Given the description of an element on the screen output the (x, y) to click on. 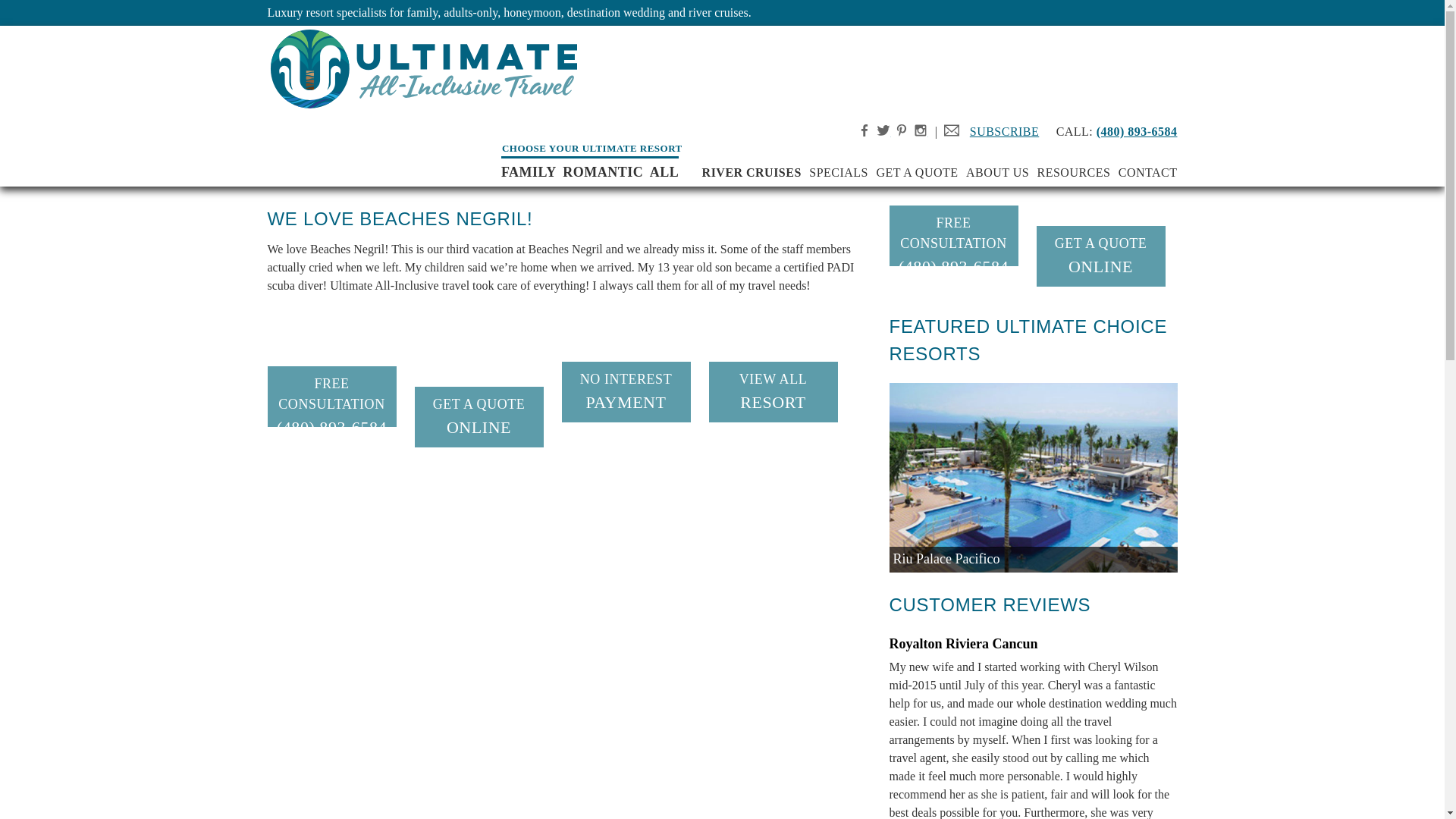
. (883, 130)
. (951, 130)
. (920, 130)
Like us on Facebook (864, 130)
Subscribe to our Mailing List (1004, 131)
Follow us on Twitter (883, 130)
. (864, 130)
ALL (663, 171)
Follow us on Pinterest (900, 130)
ROMANTIC (606, 171)
. (900, 130)
Like us on Instagram (920, 130)
Ultimate All-Inclusive Travel (428, 71)
FAMILY (532, 171)
Subscribe to our Newsletter (951, 130)
